Given the description of an element on the screen output the (x, y) to click on. 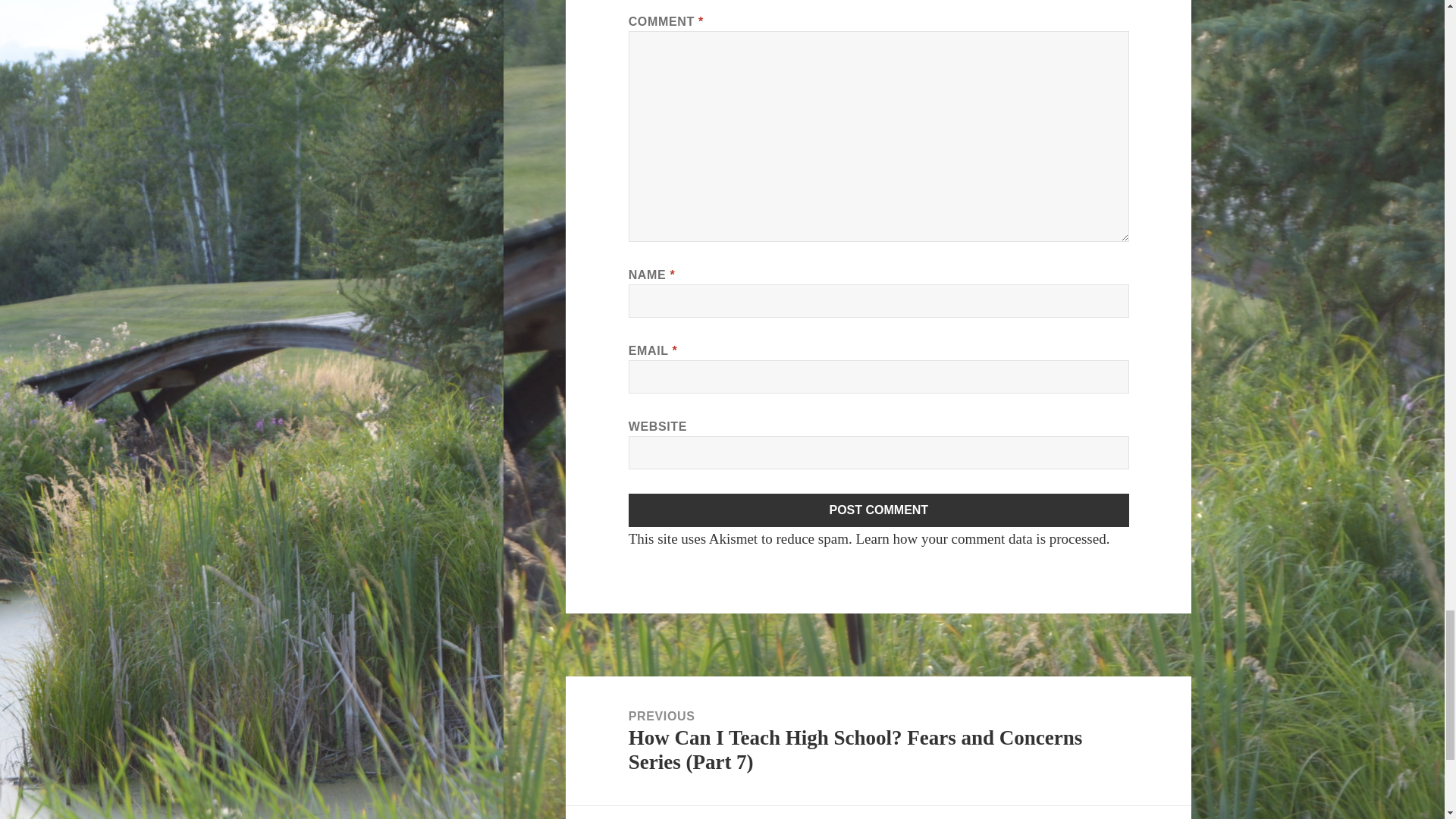
Post Comment (878, 510)
